Given the description of an element on the screen output the (x, y) to click on. 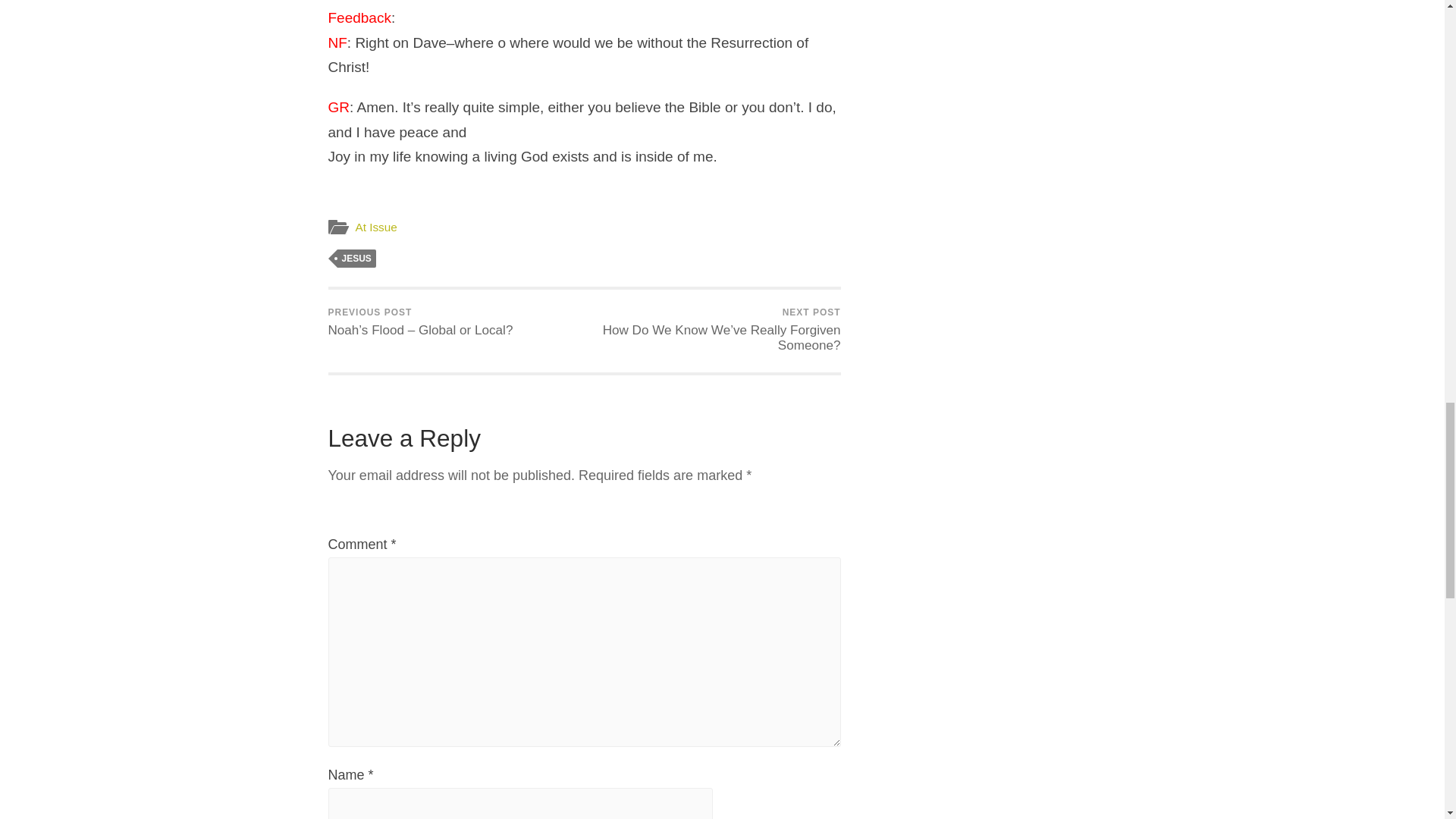
JESUS (355, 258)
At Issue (375, 226)
